Given the description of an element on the screen output the (x, y) to click on. 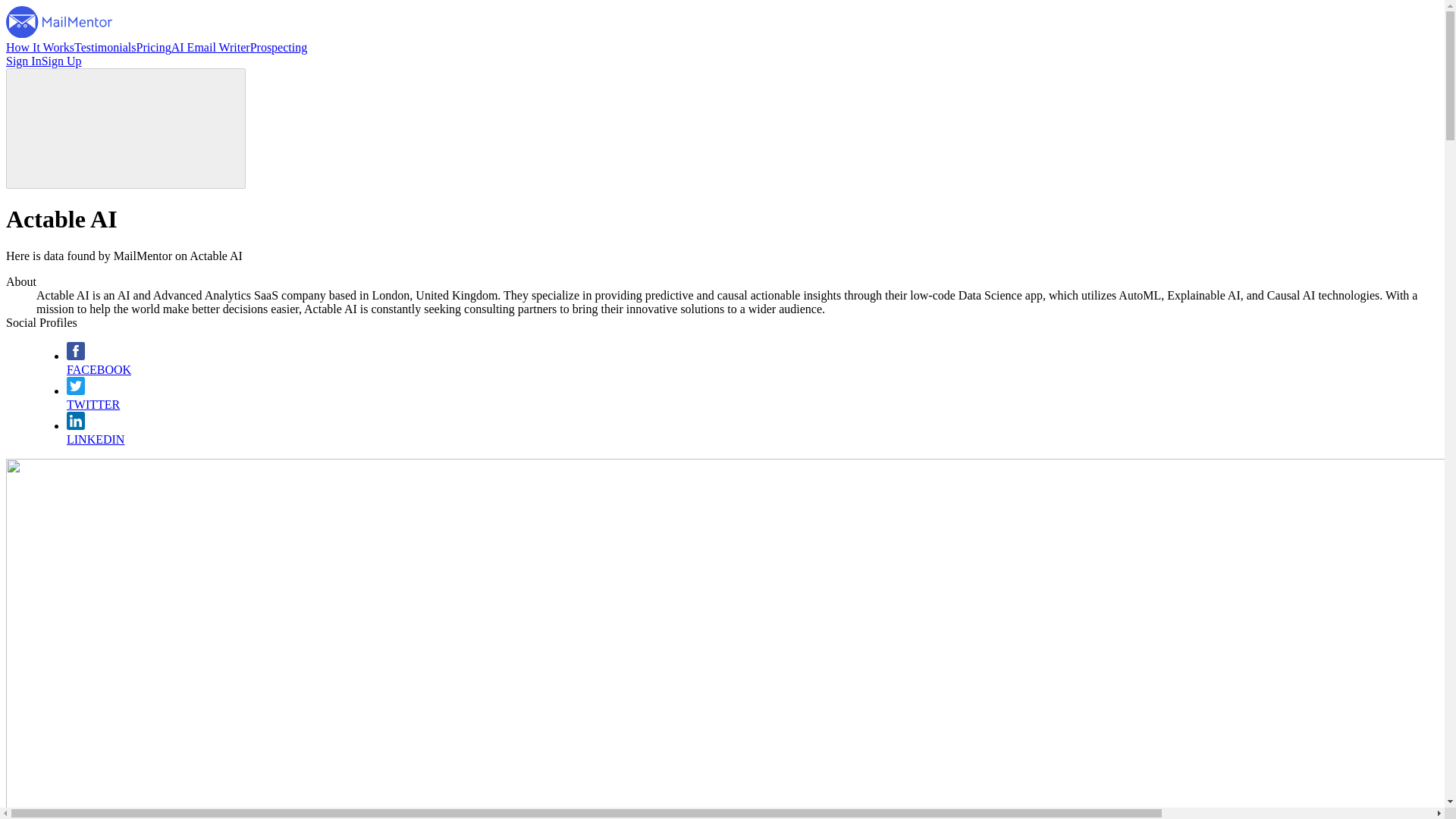
Testimonials (105, 47)
Pricing (153, 47)
Sign In (23, 60)
Prospecting (278, 47)
facebook (75, 355)
How It Works (39, 47)
AI Email Writer (210, 47)
twitter (75, 390)
Sign Up (61, 60)
linkedin (75, 425)
